Given the description of an element on the screen output the (x, y) to click on. 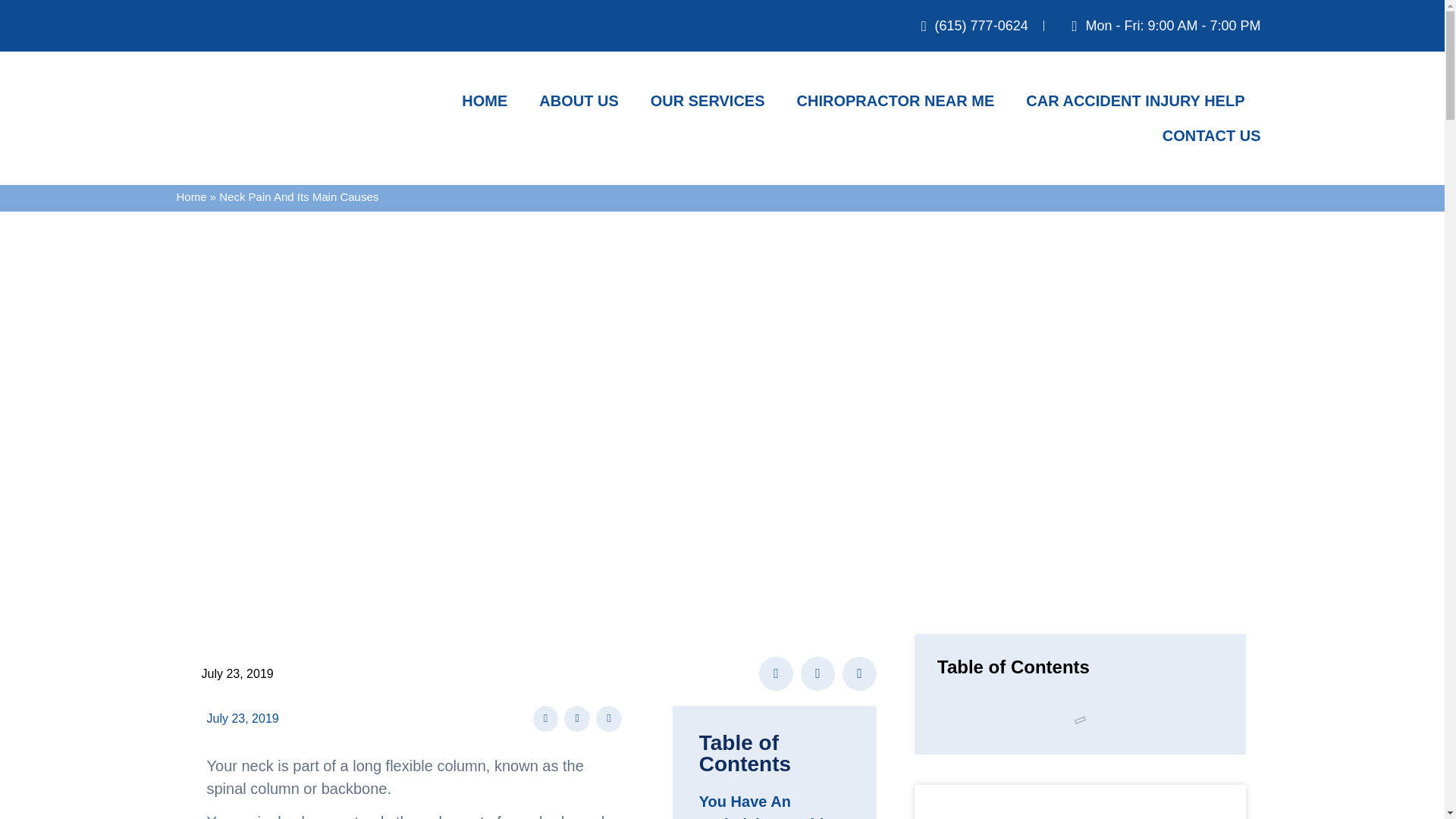
CHIROPRACTOR NEAR ME (895, 100)
ABOUT US (577, 100)
HOME (483, 100)
Home (191, 196)
CONTACT US (1210, 135)
CAR ACCIDENT INJURY HELP (1135, 100)
OUR SERVICES (707, 100)
